Given the description of an element on the screen output the (x, y) to click on. 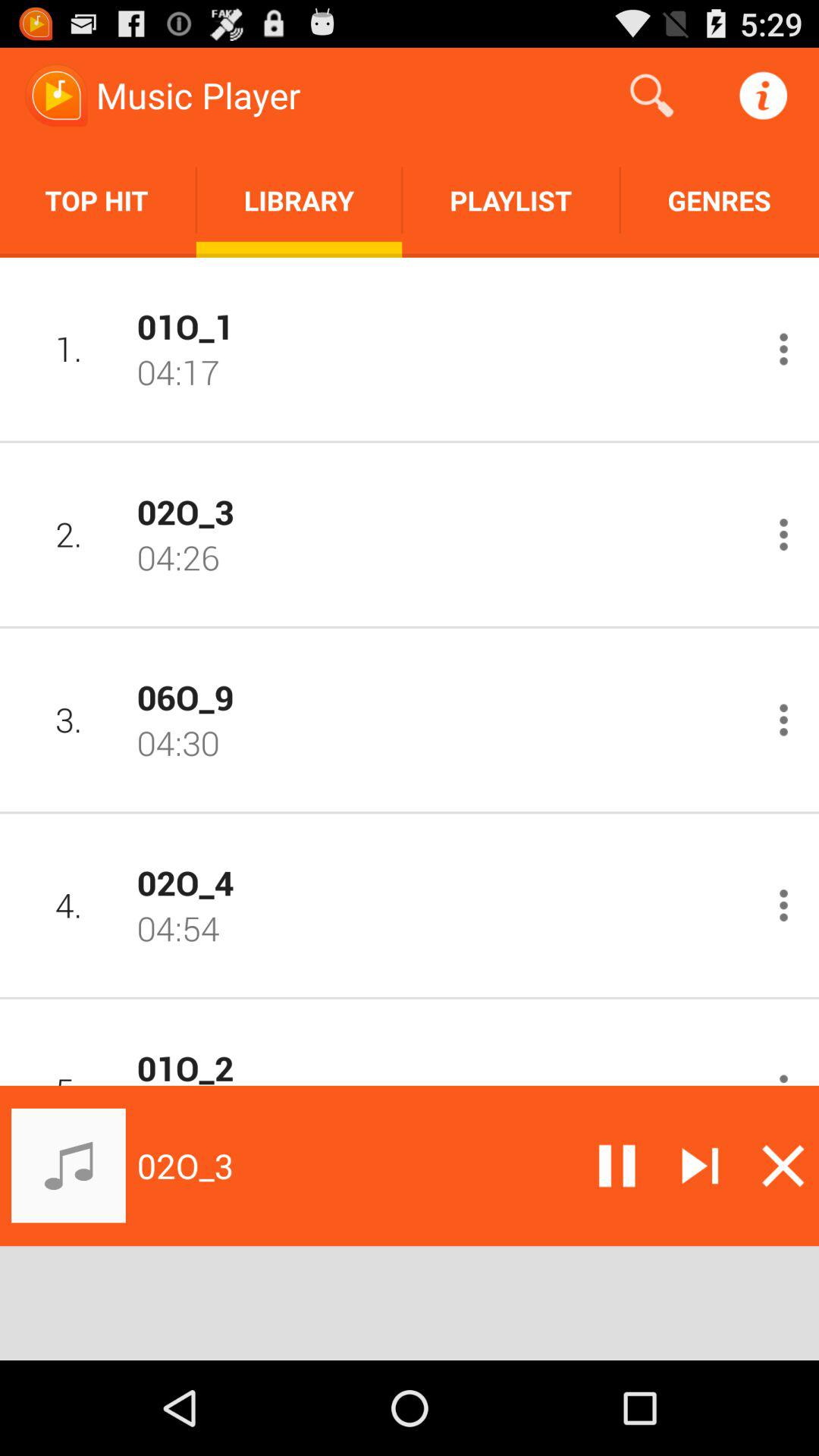
skip (699, 1165)
